Given the description of an element on the screen output the (x, y) to click on. 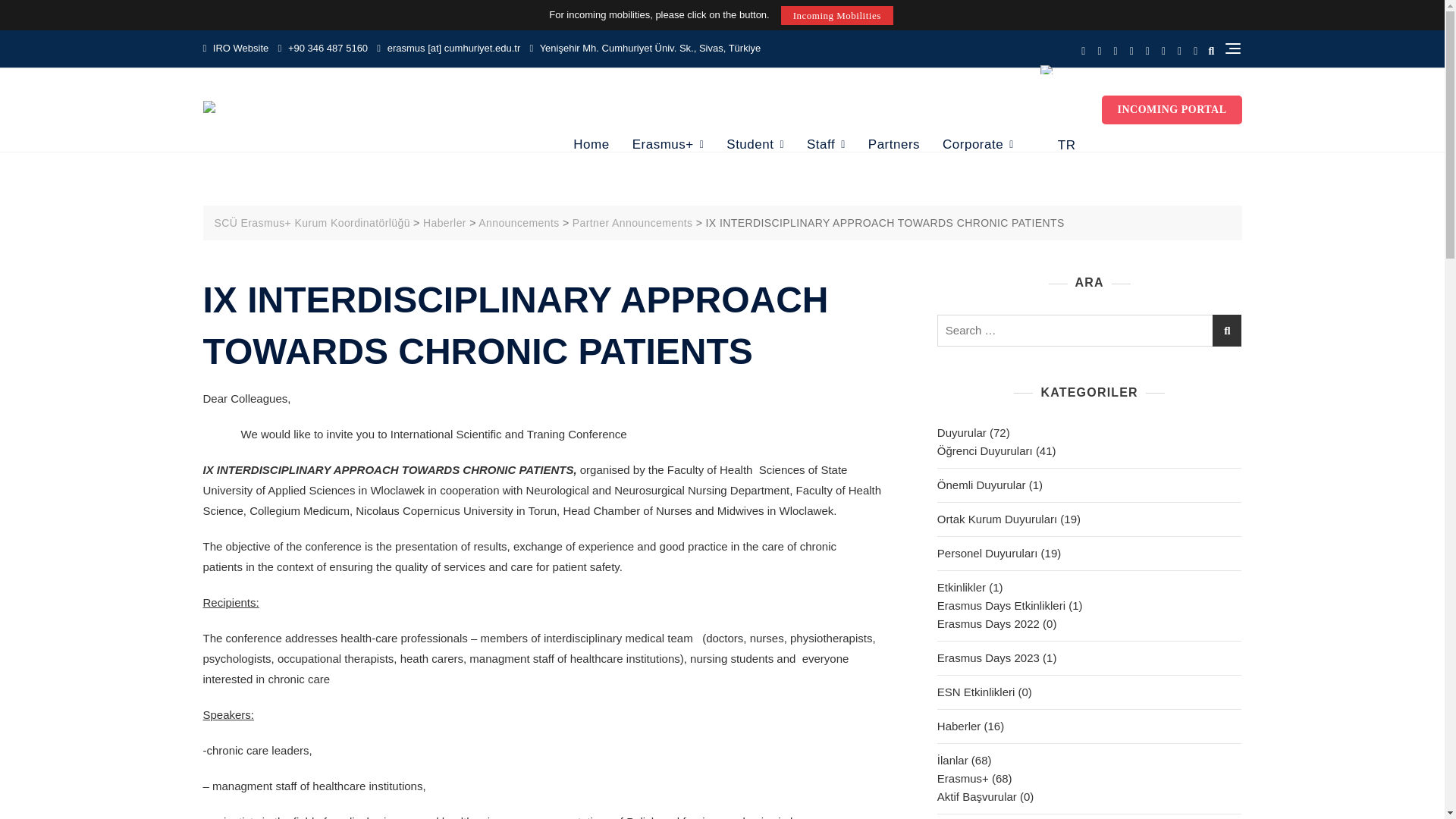
Go to Haberler. (444, 223)
Go to the Duyurular Category archives. (519, 223)
IRO Website (236, 48)
Incoming Mobilities (836, 15)
Turkish (1047, 69)
